Given the description of an element on the screen output the (x, y) to click on. 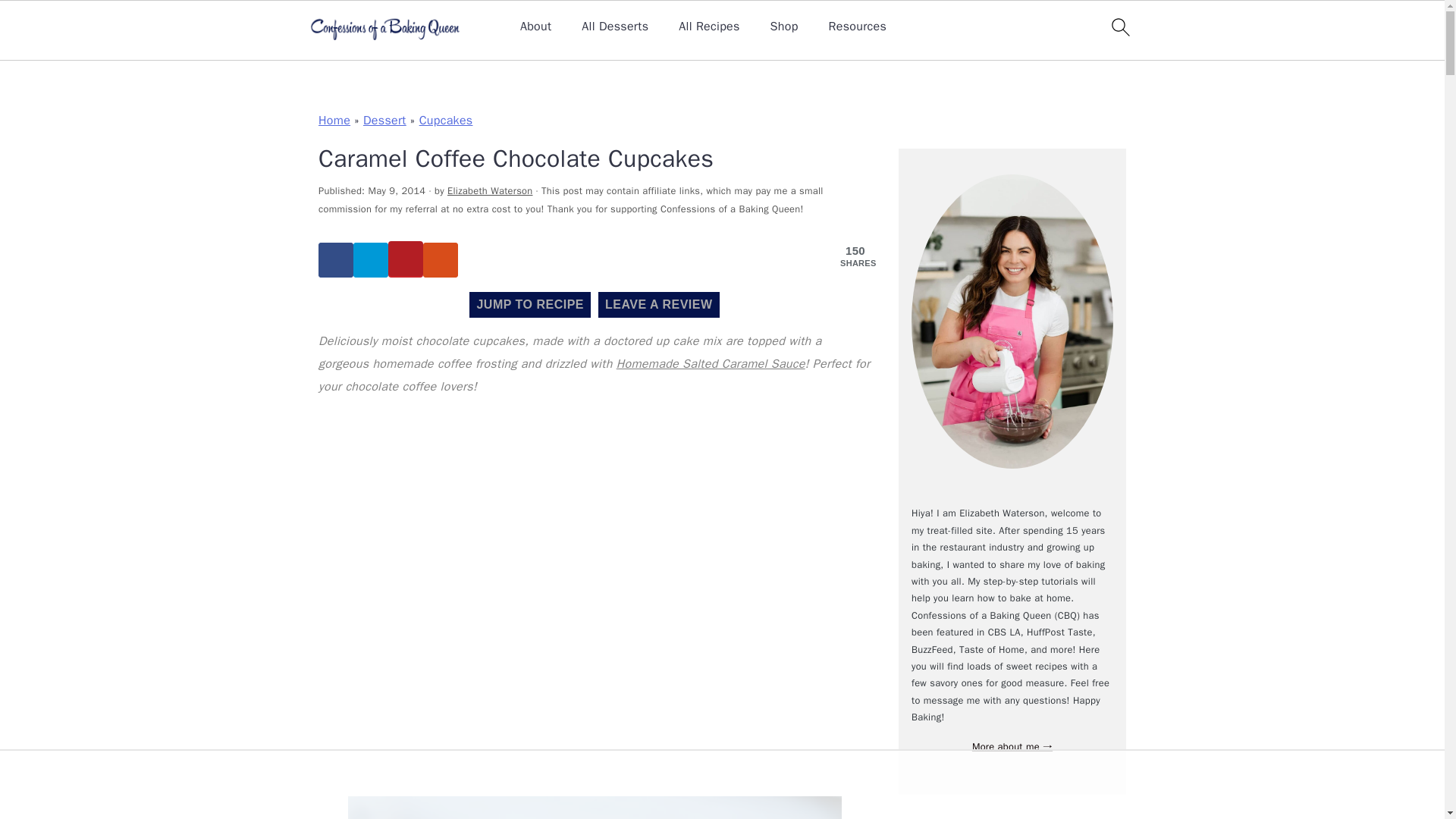
Save to Pinterest (405, 259)
search icon (1119, 26)
Share on Facebook (335, 259)
Share on Twitter (370, 259)
Share on Yummly (440, 259)
LEAVE A REVIEW (658, 304)
JUMP TO RECIPE (529, 304)
